Given the description of an element on the screen output the (x, y) to click on. 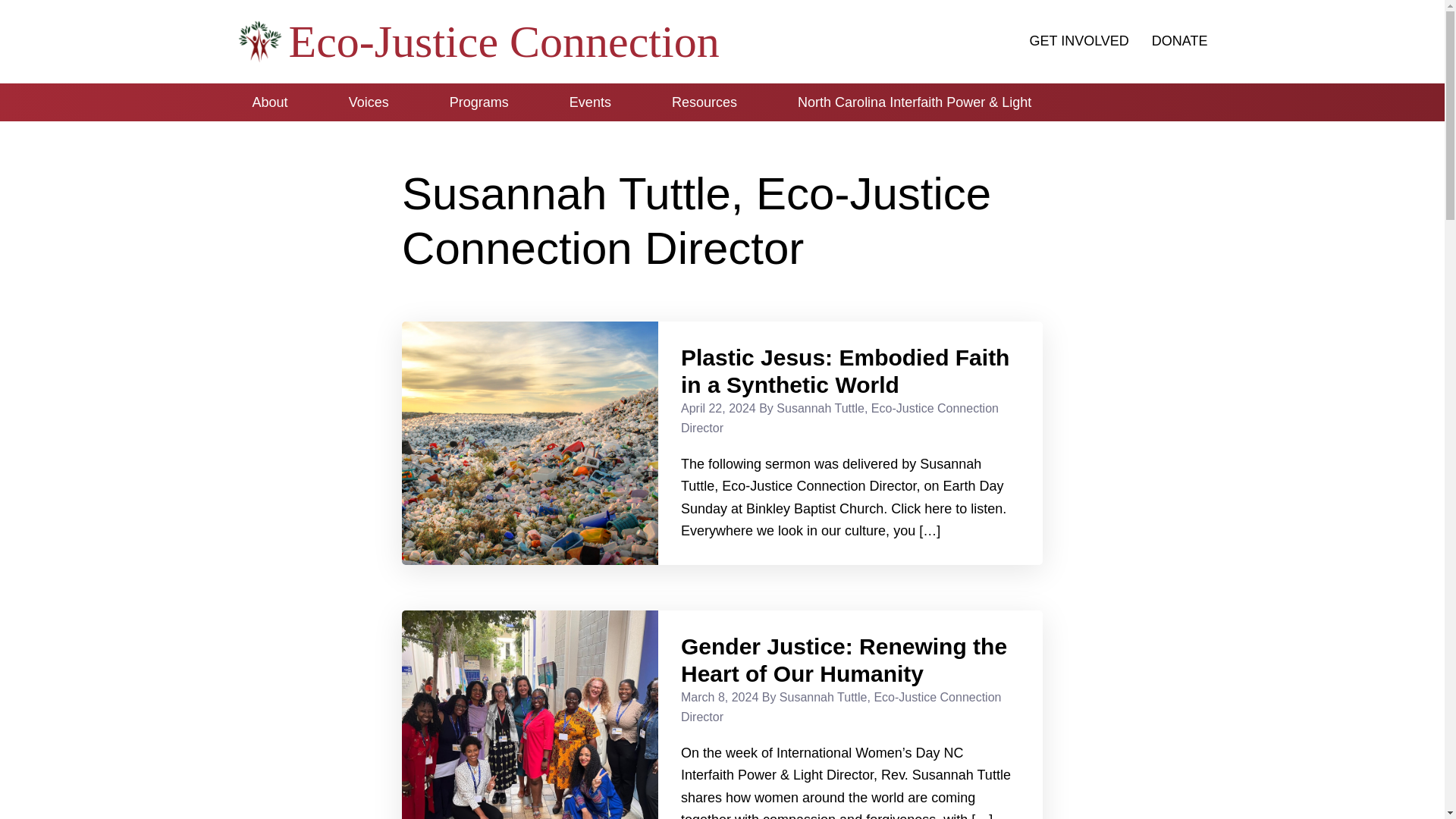
Voices (368, 102)
Programs (478, 102)
NC Council of Churches (1112, 102)
GET INVOLVED (1078, 41)
DONATE (1179, 41)
Eco-Justice Connection (503, 41)
Resources (704, 102)
Plastic Jesus: Embodied Faith in a Synthetic World (845, 370)
NCCC (1112, 102)
About (268, 102)
Events (590, 102)
Search this website (1191, 95)
